Given the description of an element on the screen output the (x, y) to click on. 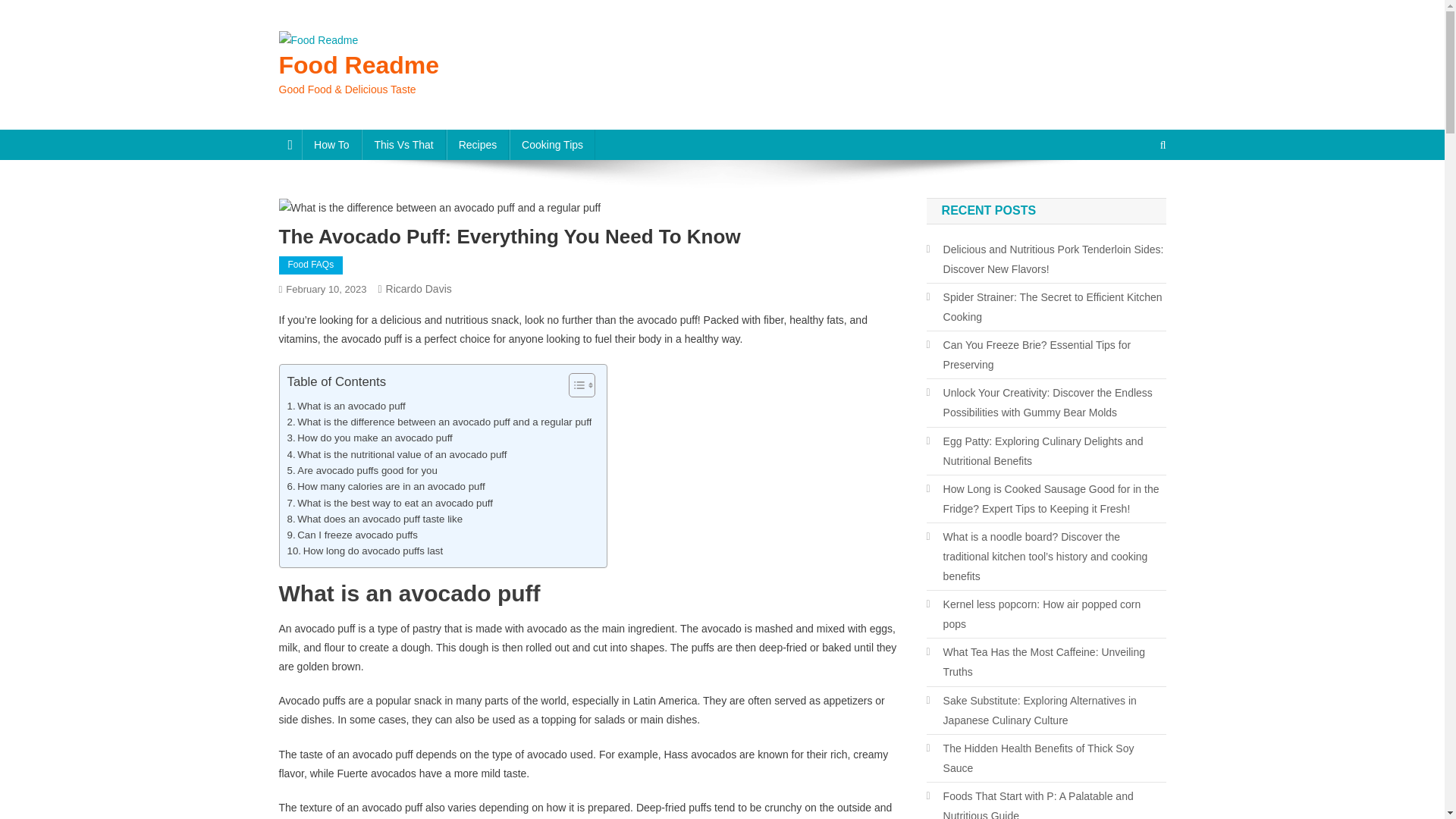
Are avocado puffs good for you (361, 470)
Are avocado puffs good for you (361, 470)
Search (1133, 195)
What is the best way to eat an avocado puff (389, 502)
What is the nutritional value of an avocado puff (396, 454)
Can I freeze avocado puffs (351, 534)
What is the nutritional value of an avocado puff (396, 454)
How do you make an avocado puff (368, 437)
What is an avocado puff (345, 406)
